Given the description of an element on the screen output the (x, y) to click on. 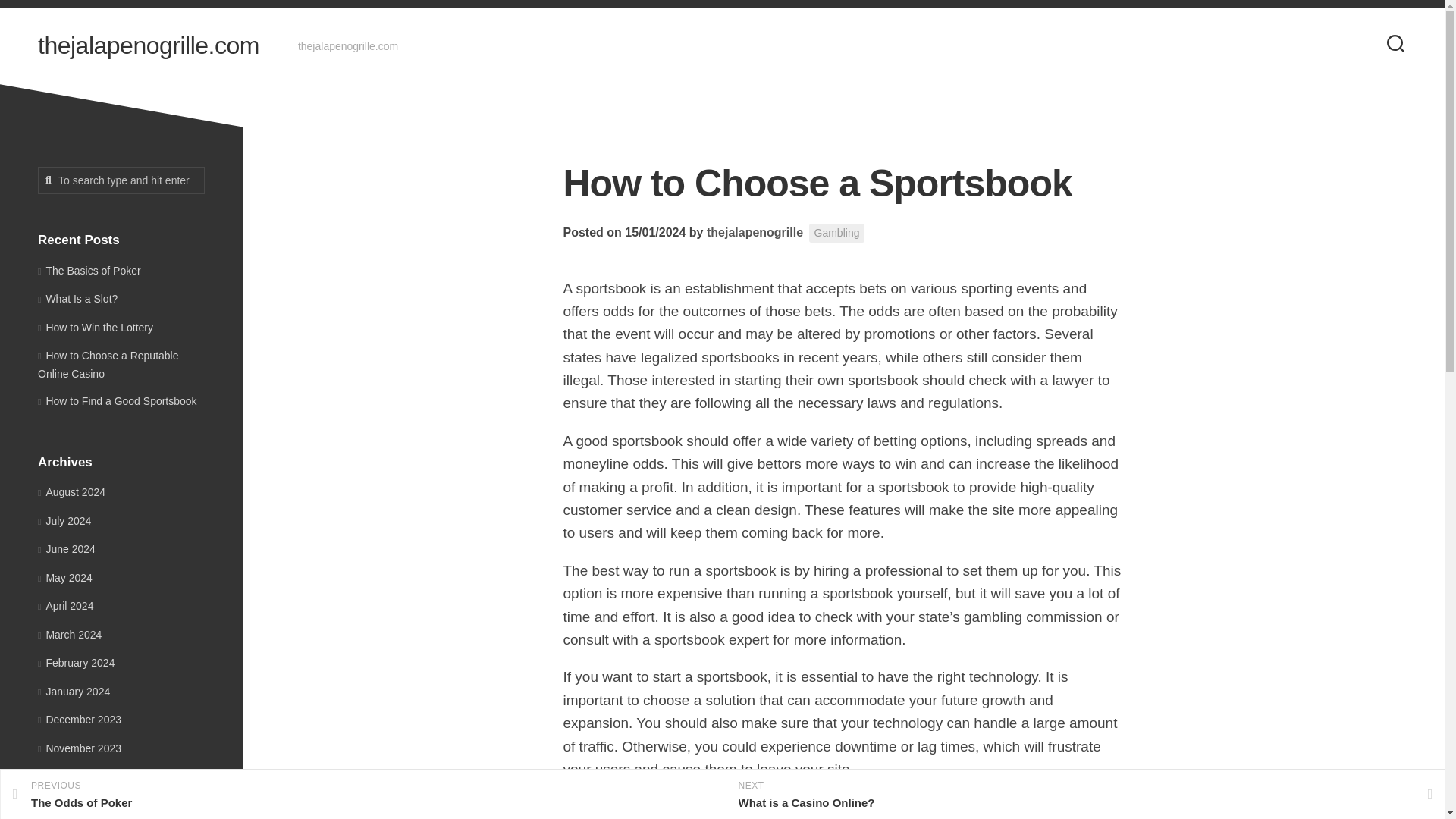
March 2024 (69, 633)
October 2023 (73, 776)
December 2023 (78, 719)
August 2024 (70, 491)
Gambling (836, 232)
June 2024 (66, 548)
February 2024 (361, 794)
thejalapenogrille.com (76, 662)
September 2023 (148, 44)
